Given the description of an element on the screen output the (x, y) to click on. 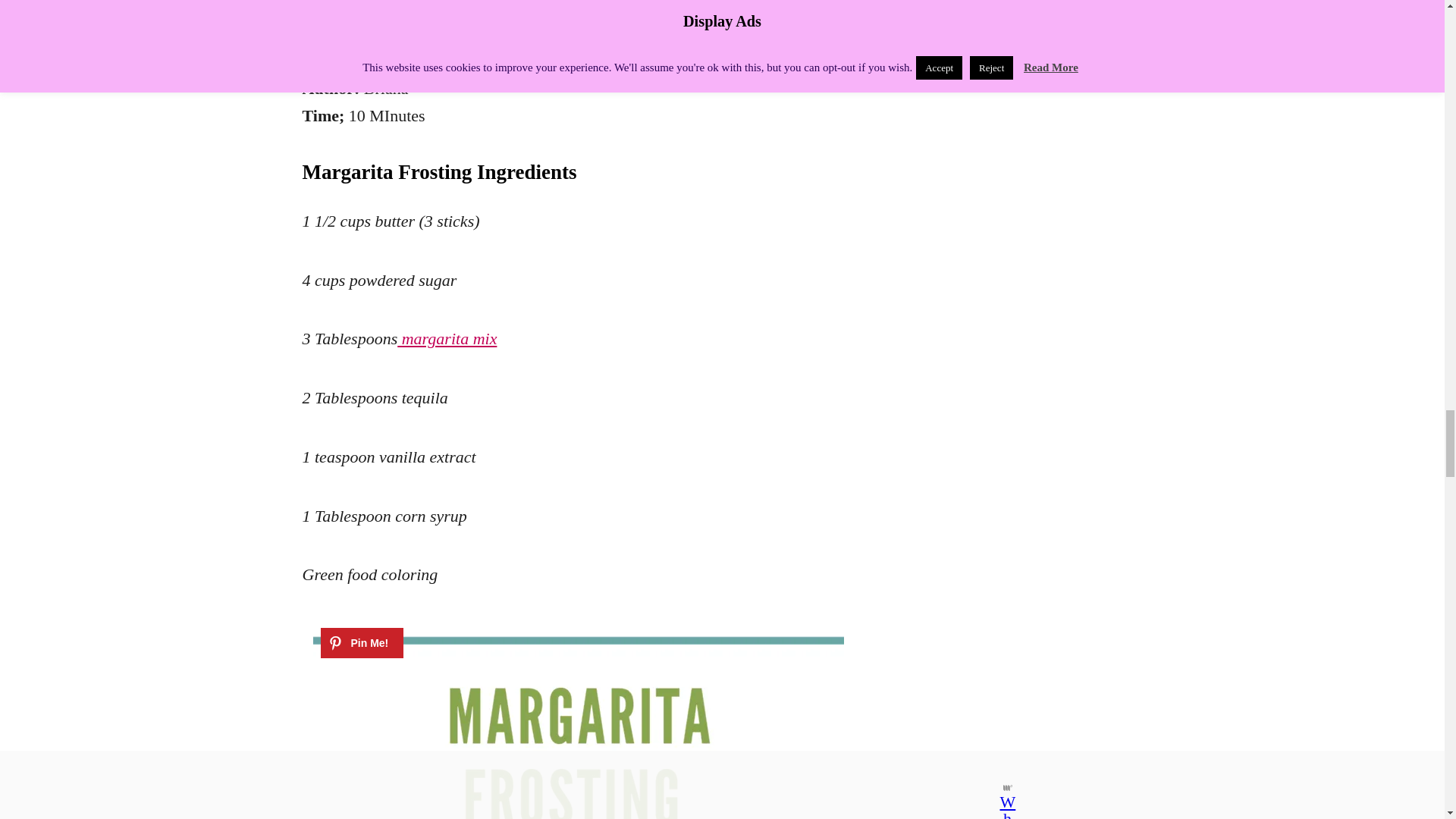
Pin Me! (361, 643)
margarita mix (446, 338)
